Given the description of an element on the screen output the (x, y) to click on. 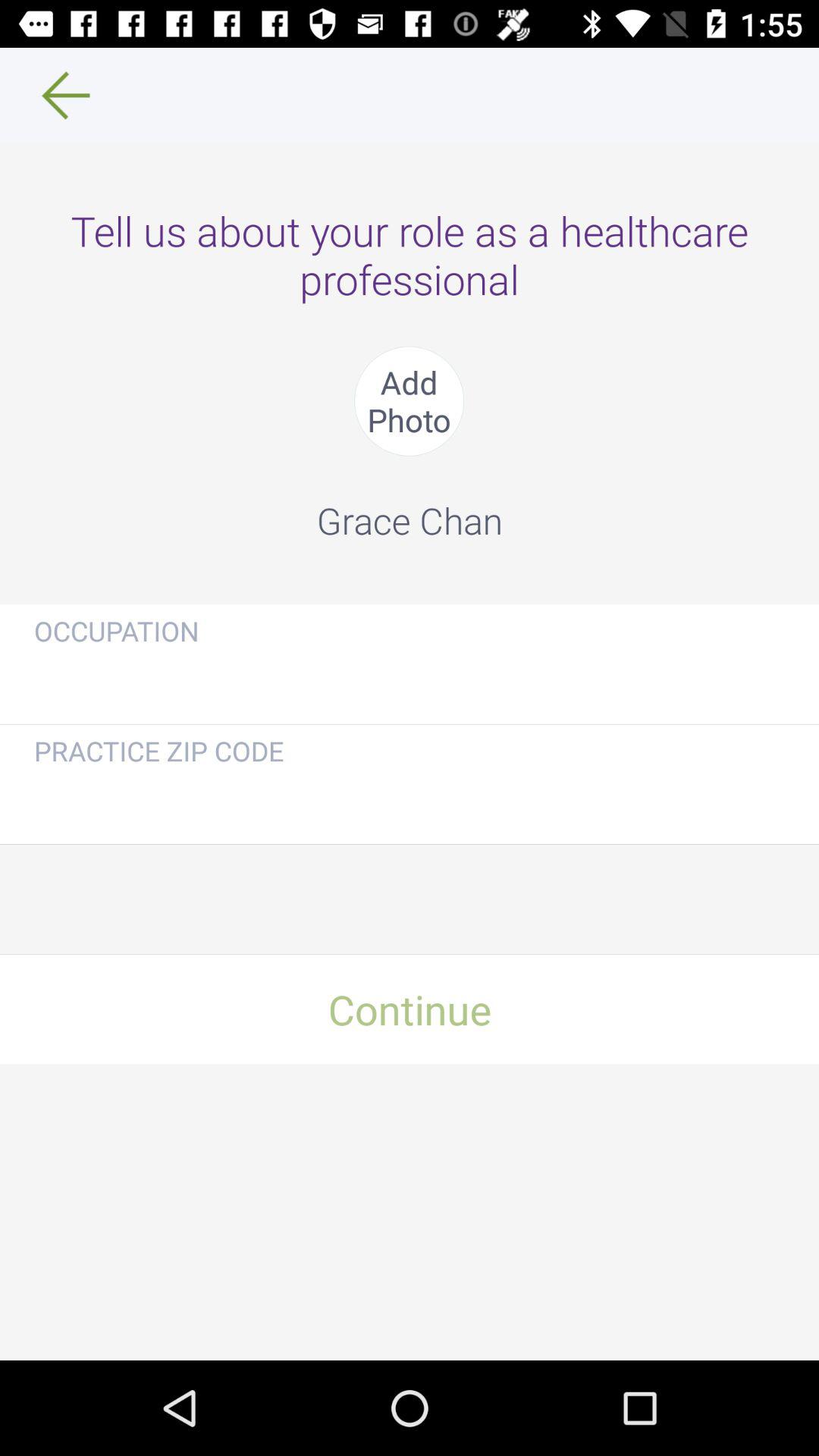
enter zip code (409, 800)
